Given the description of an element on the screen output the (x, y) to click on. 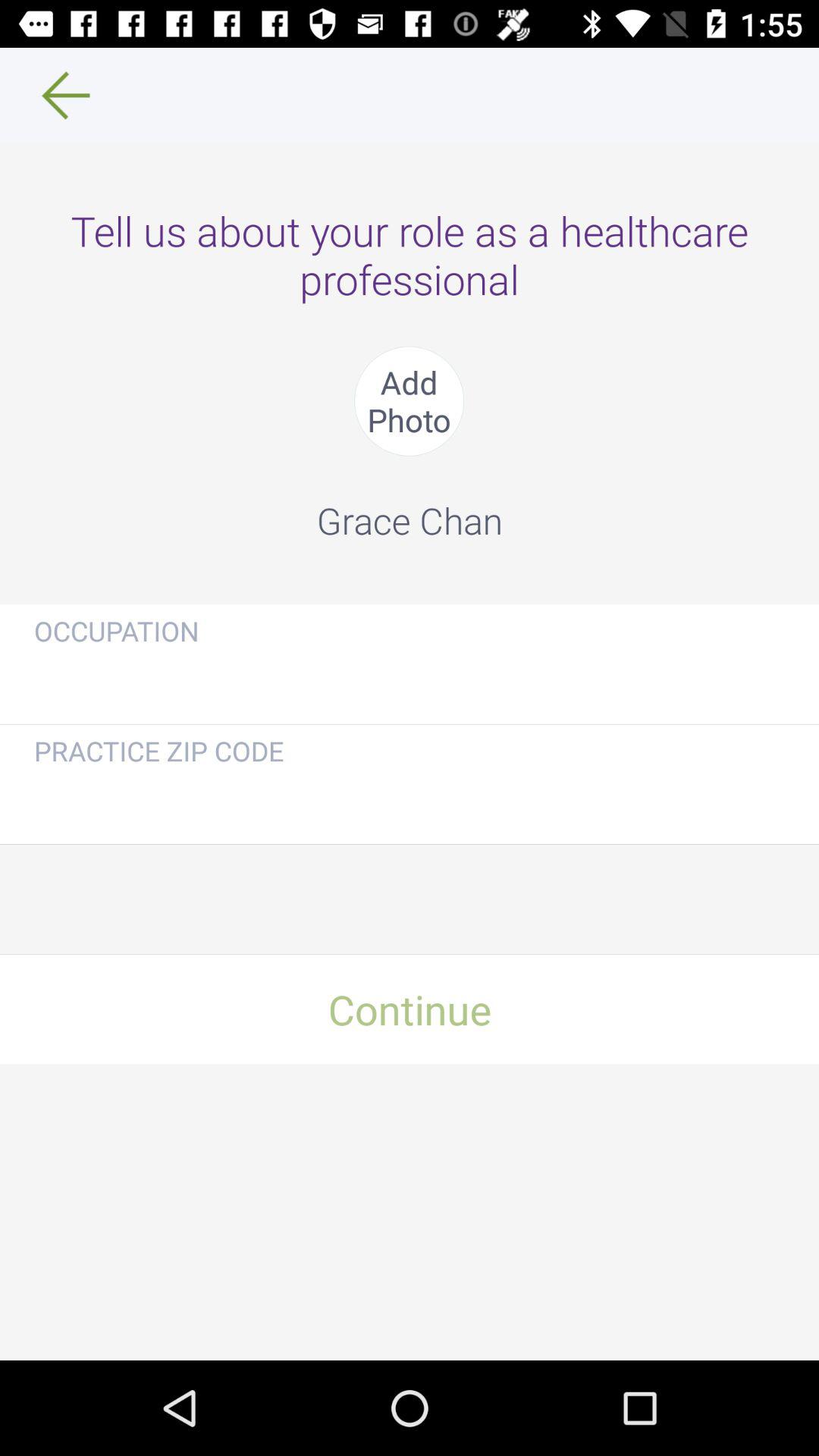
enter zip code (409, 800)
